Given the description of an element on the screen output the (x, y) to click on. 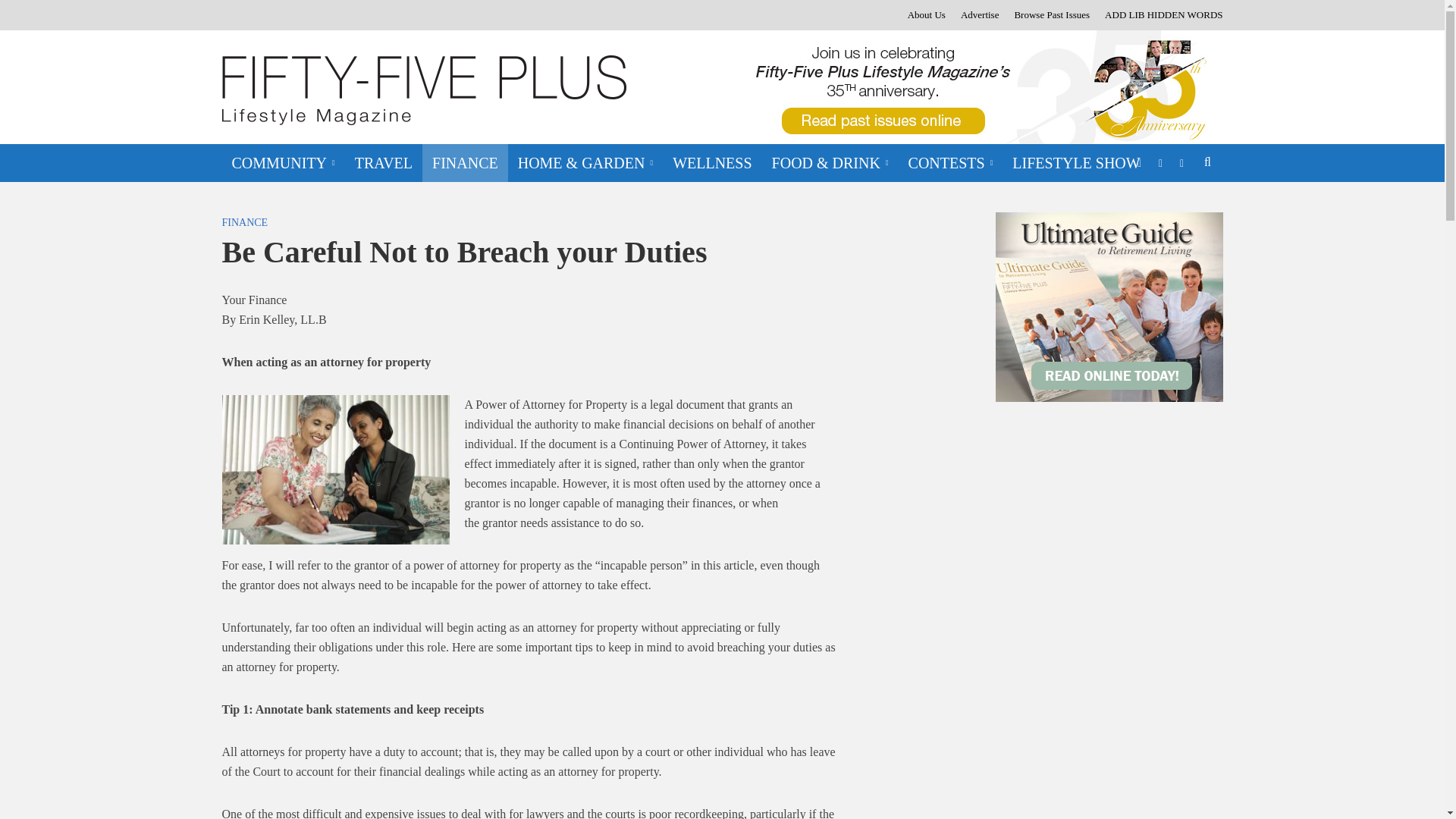
FINANCE (465, 162)
Advertise (980, 15)
About Us (926, 15)
ADD LIB HIDDEN WORDS (1160, 15)
TRAVEL (383, 162)
CONTESTS (950, 162)
COMMUNITY (282, 162)
Browse Past Issues (1051, 15)
WELLNESS (711, 162)
LIFESTYLE SHOW (1076, 162)
